Given the description of an element on the screen output the (x, y) to click on. 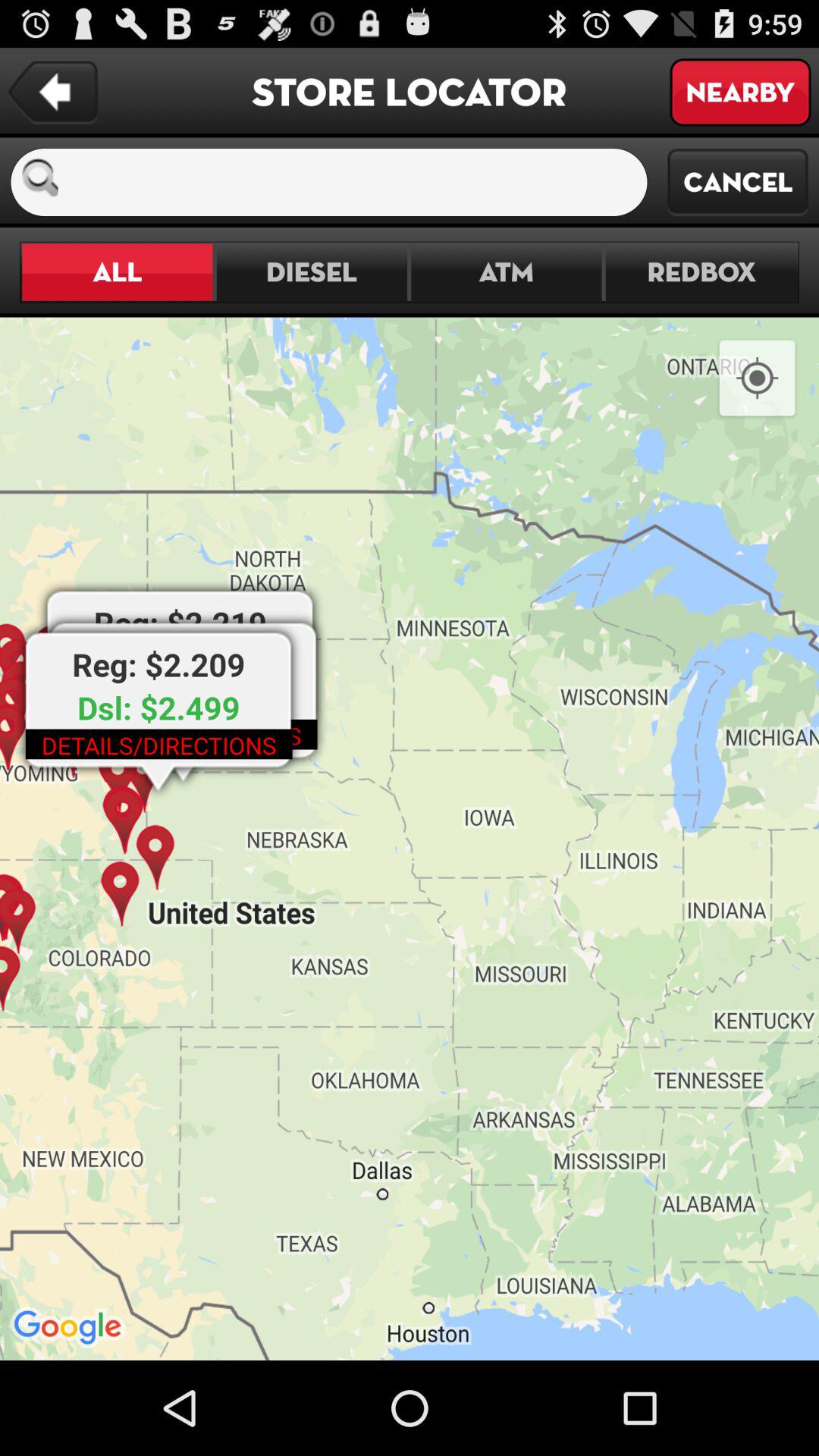
scroll until the nearby item (740, 92)
